Given the description of an element on the screen output the (x, y) to click on. 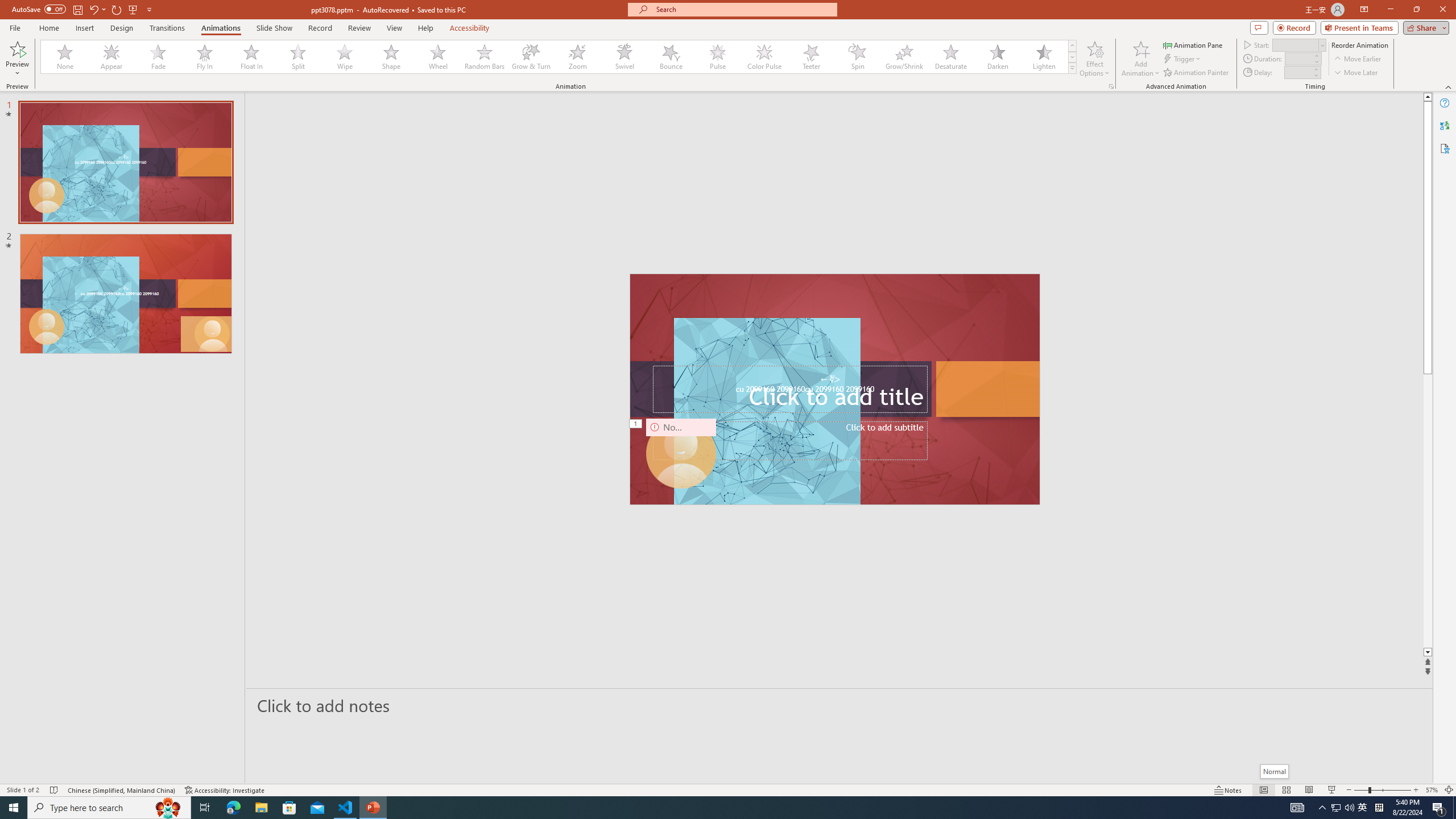
Move Later (1355, 72)
Animation, sequence 1, on Camera 9 (635, 424)
Zoom 57% (1431, 790)
